Given the description of an element on the screen output the (x, y) to click on. 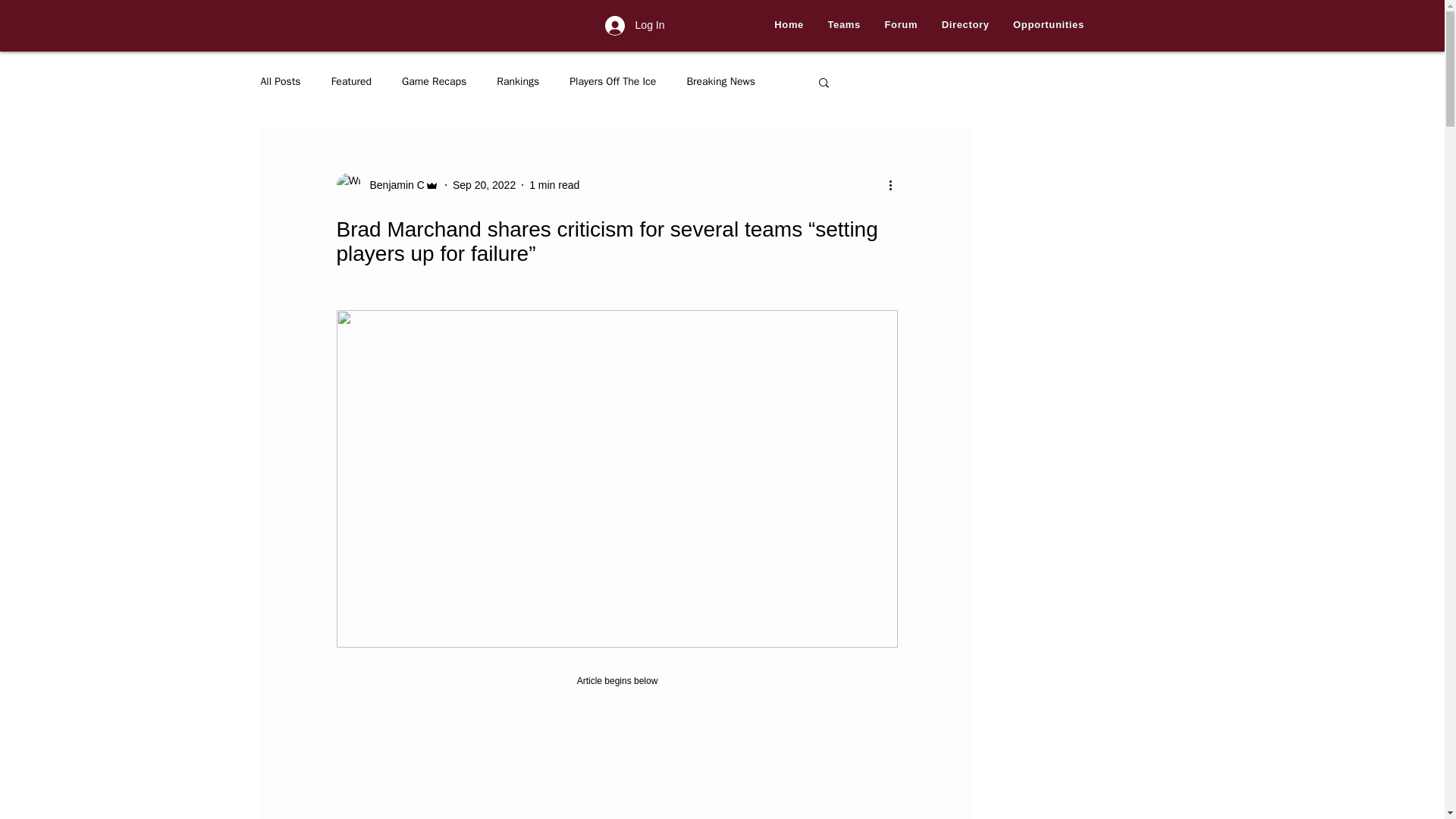
Home (788, 25)
Sep 20, 2022 (483, 184)
Game Recaps (433, 81)
Rankings (517, 81)
Benjamin C (393, 185)
Forum (901, 25)
Log In (634, 25)
All Posts (280, 81)
Directory (965, 25)
Breaking News (720, 81)
